Given the description of an element on the screen output the (x, y) to click on. 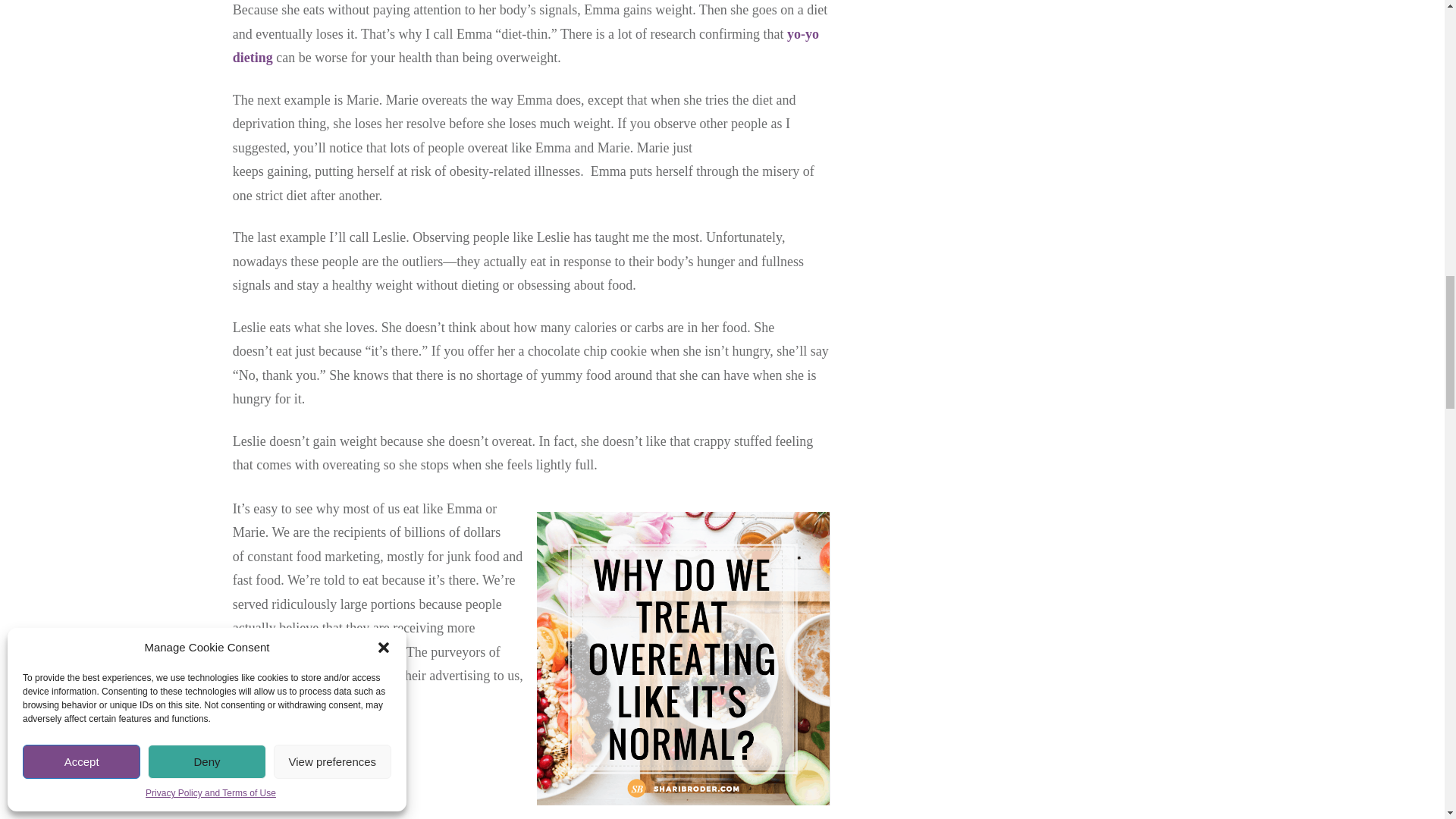
yo-yo dieting (525, 46)
